Given the description of an element on the screen output the (x, y) to click on. 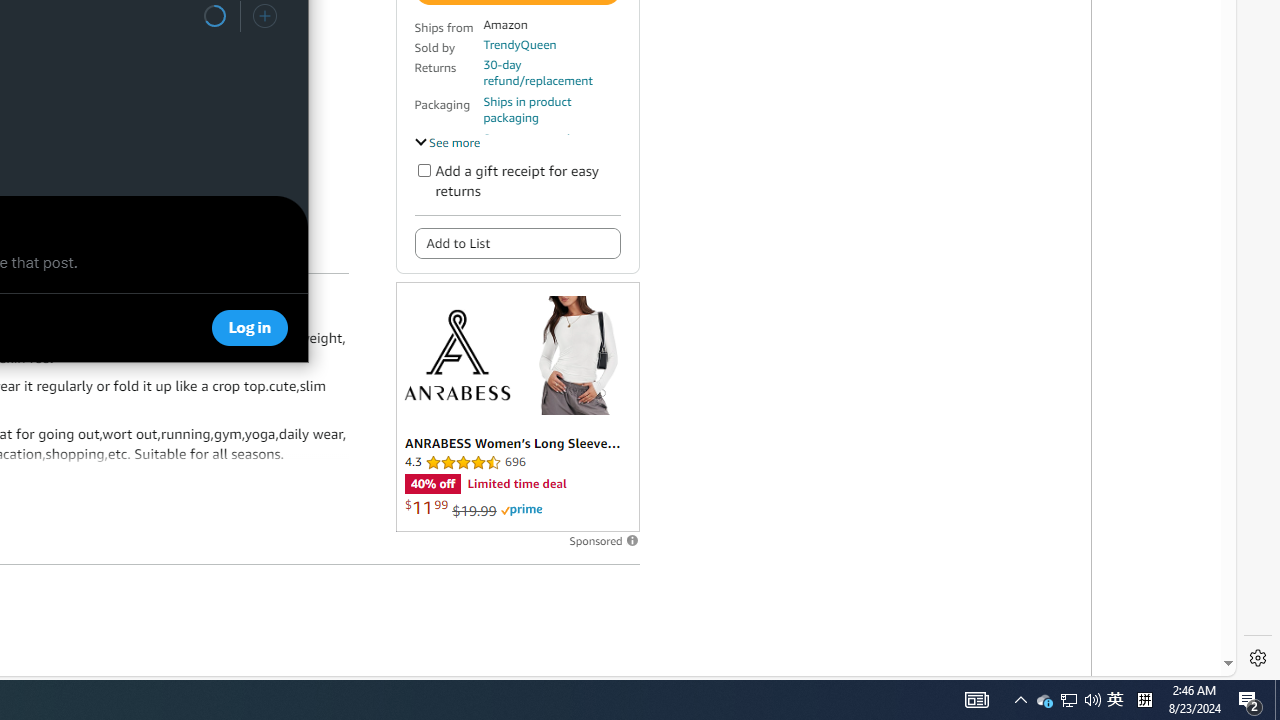
Show desktop (1277, 699)
Add to List (516, 242)
Logo (456, 354)
Prime (521, 509)
Q2790: 100% (1092, 699)
Secure transaction (533, 138)
Ships in product packaging (551, 109)
